Given the description of an element on the screen output the (x, y) to click on. 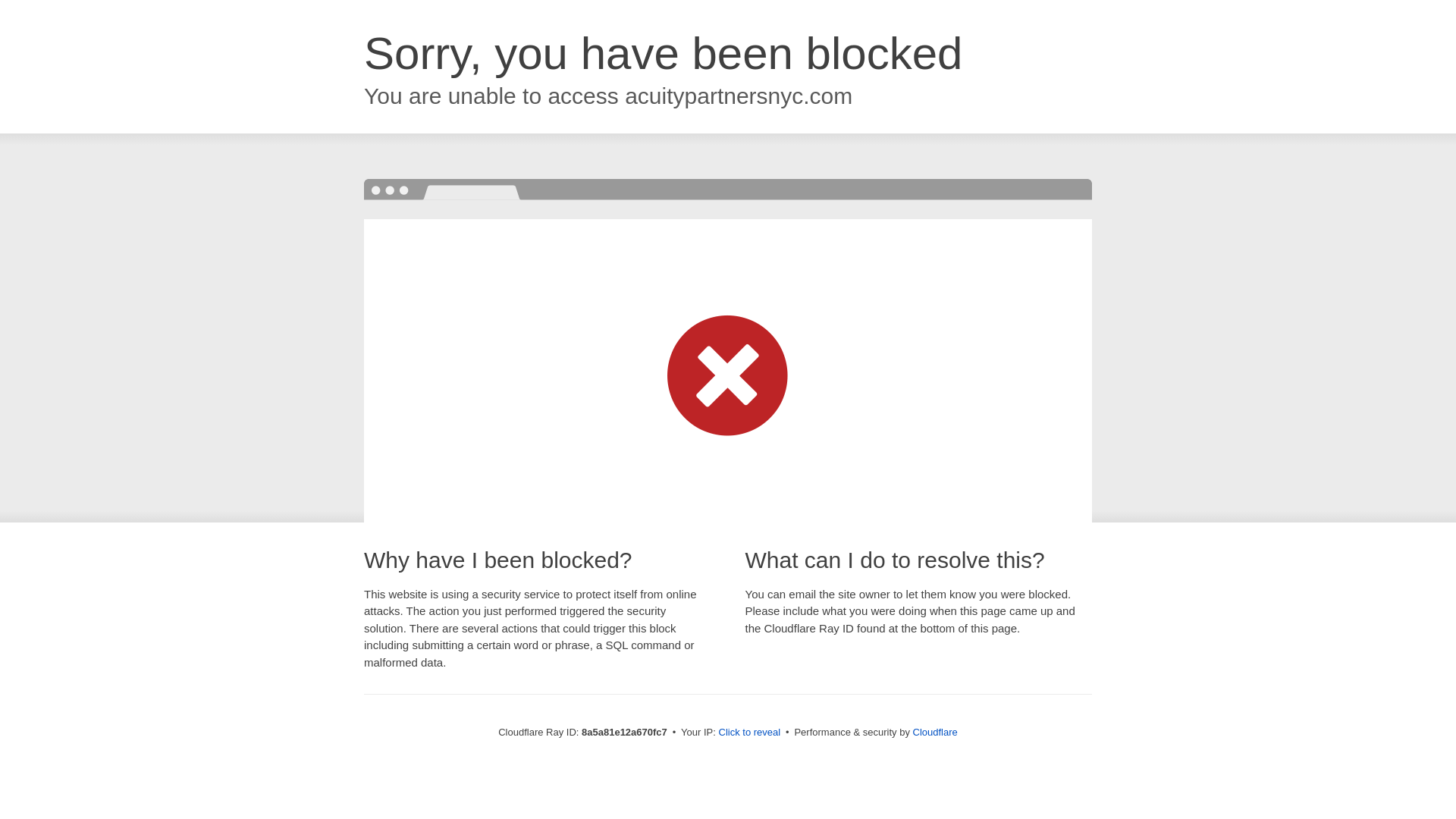
Cloudflare (935, 731)
Click to reveal (749, 732)
